Given the description of an element on the screen output the (x, y) to click on. 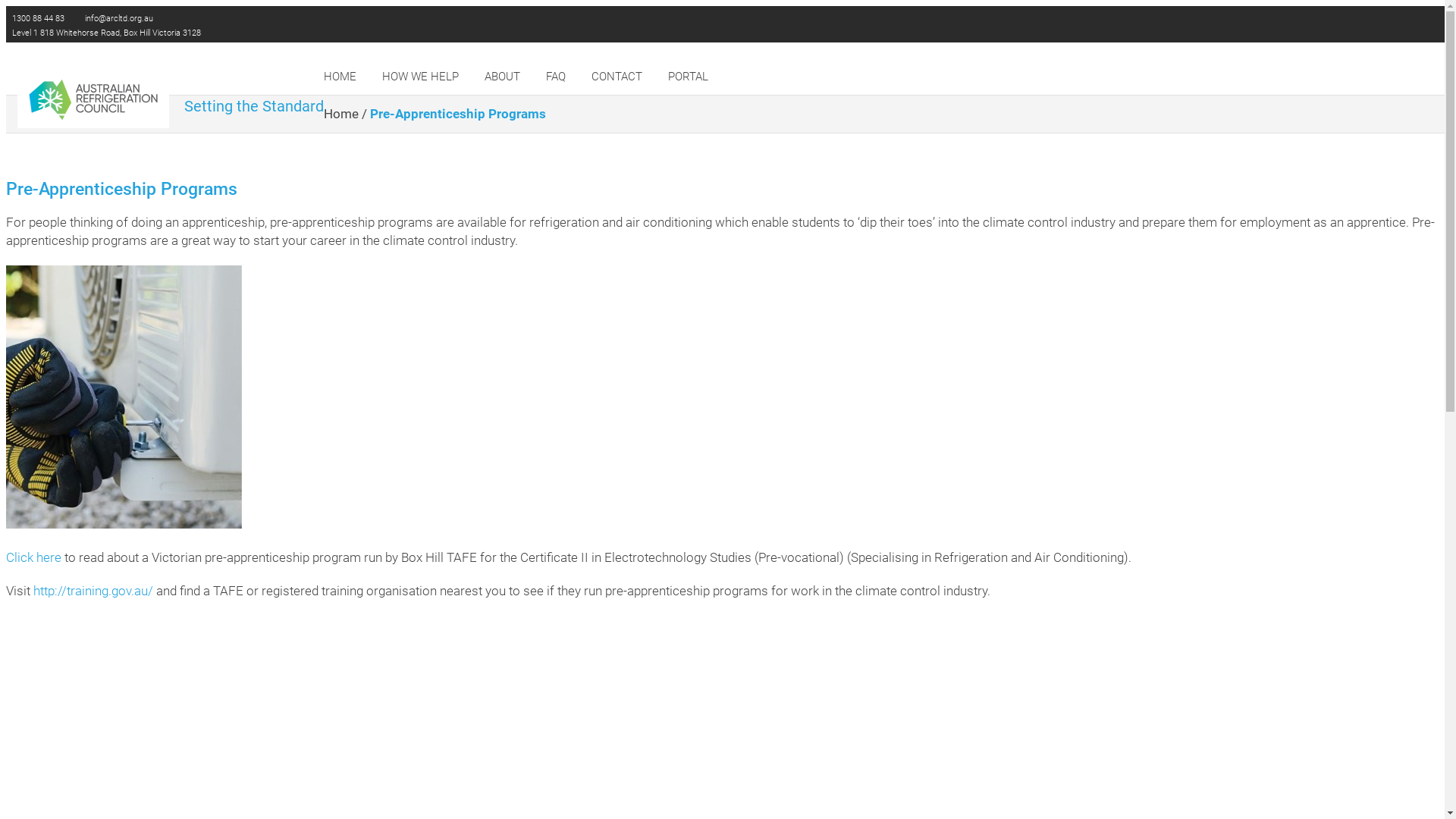
FAQ Element type: text (555, 76)
HOW WE HELP Element type: text (420, 76)
Level 1 818 Whitehorse Road, Box Hill Victoria 3128 Element type: text (104, 32)
Home Element type: text (340, 113)
PORTAL Element type: text (688, 76)
Click here Element type: text (33, 557)
HOME Element type: text (339, 76)
1300 88 44 83 Element type: text (36, 18)
Pre-Apprenticeship Programs Element type: text (458, 113)
CONTACT Element type: text (616, 76)
ABOUT Element type: text (502, 76)
info@arcltd.org.au Element type: text (117, 18)
http://training.gov.au/ Element type: text (93, 590)
